Given the description of an element on the screen output the (x, y) to click on. 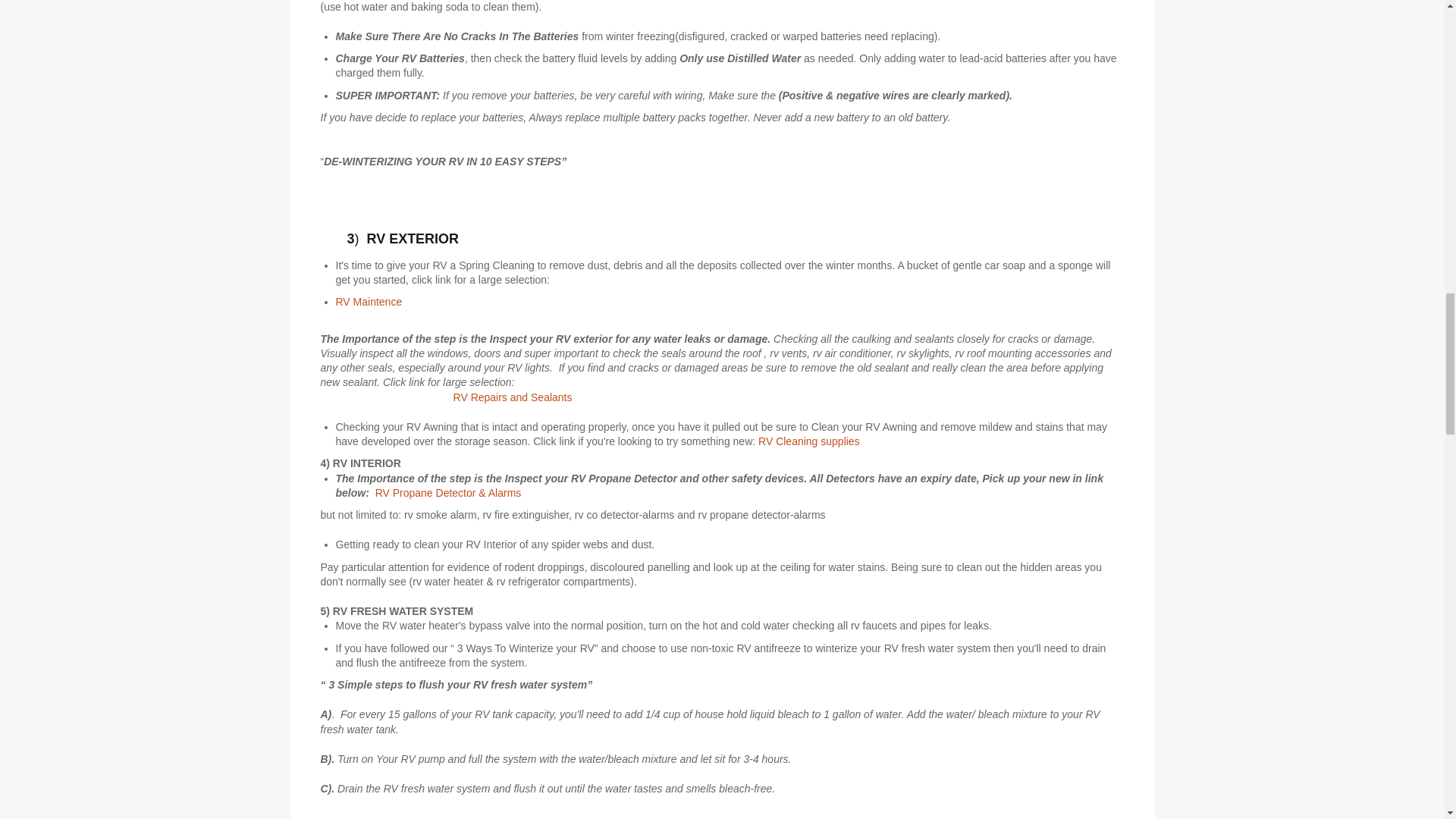
RV Maintenance  (369, 301)
RV Roof sealers and repairs  (513, 397)
RV Cleaning Supplies  (807, 440)
